Given the description of an element on the screen output the (x, y) to click on. 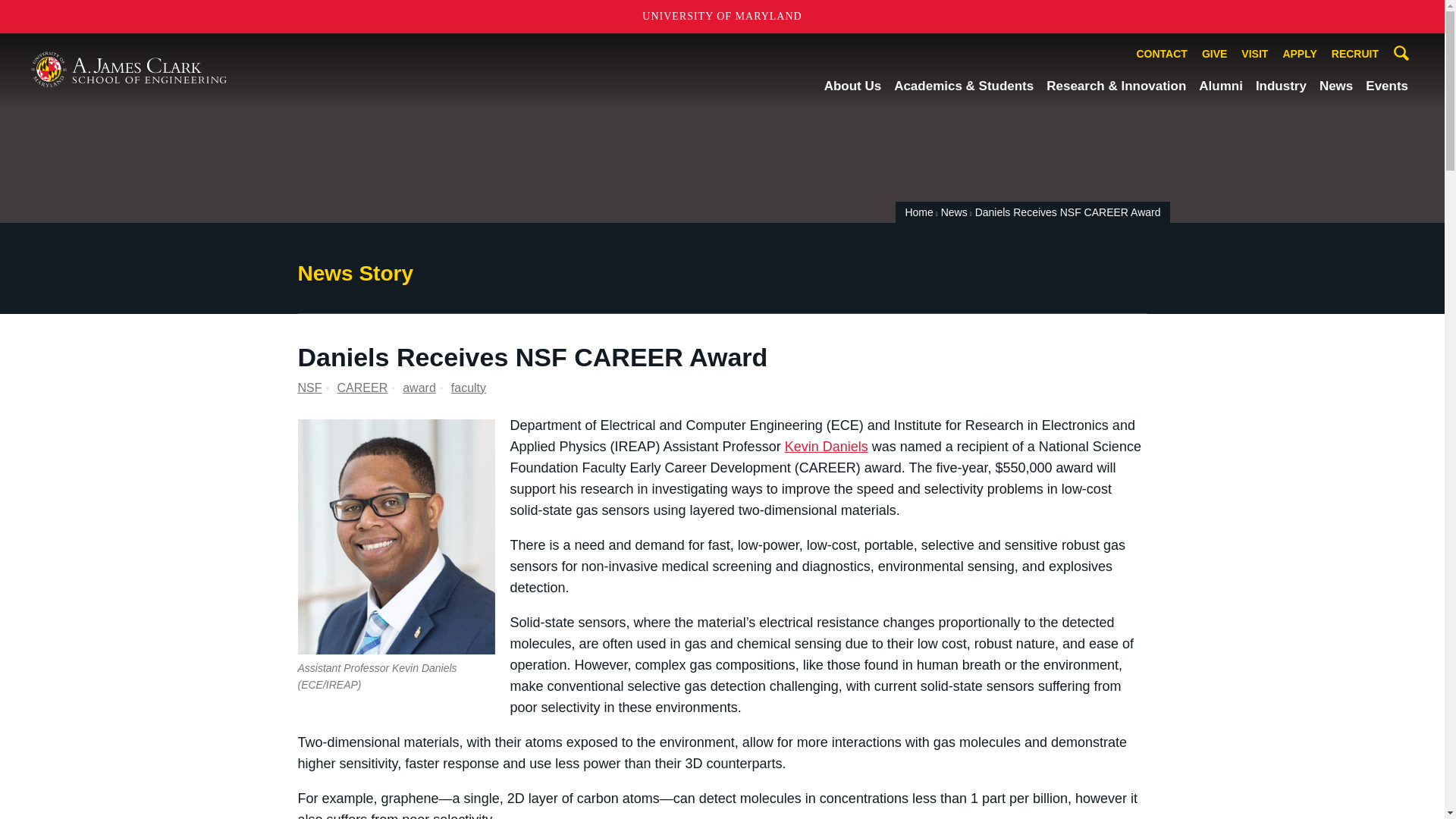
RECRUIT (1355, 53)
CONTACT (1161, 53)
GIVE (1213, 53)
VISIT (1254, 53)
UNIVERSITY OF MARYLAND (722, 16)
A. James Clark School of Engineering (128, 69)
About Us (852, 86)
APPLY (1299, 53)
